Given the description of an element on the screen output the (x, y) to click on. 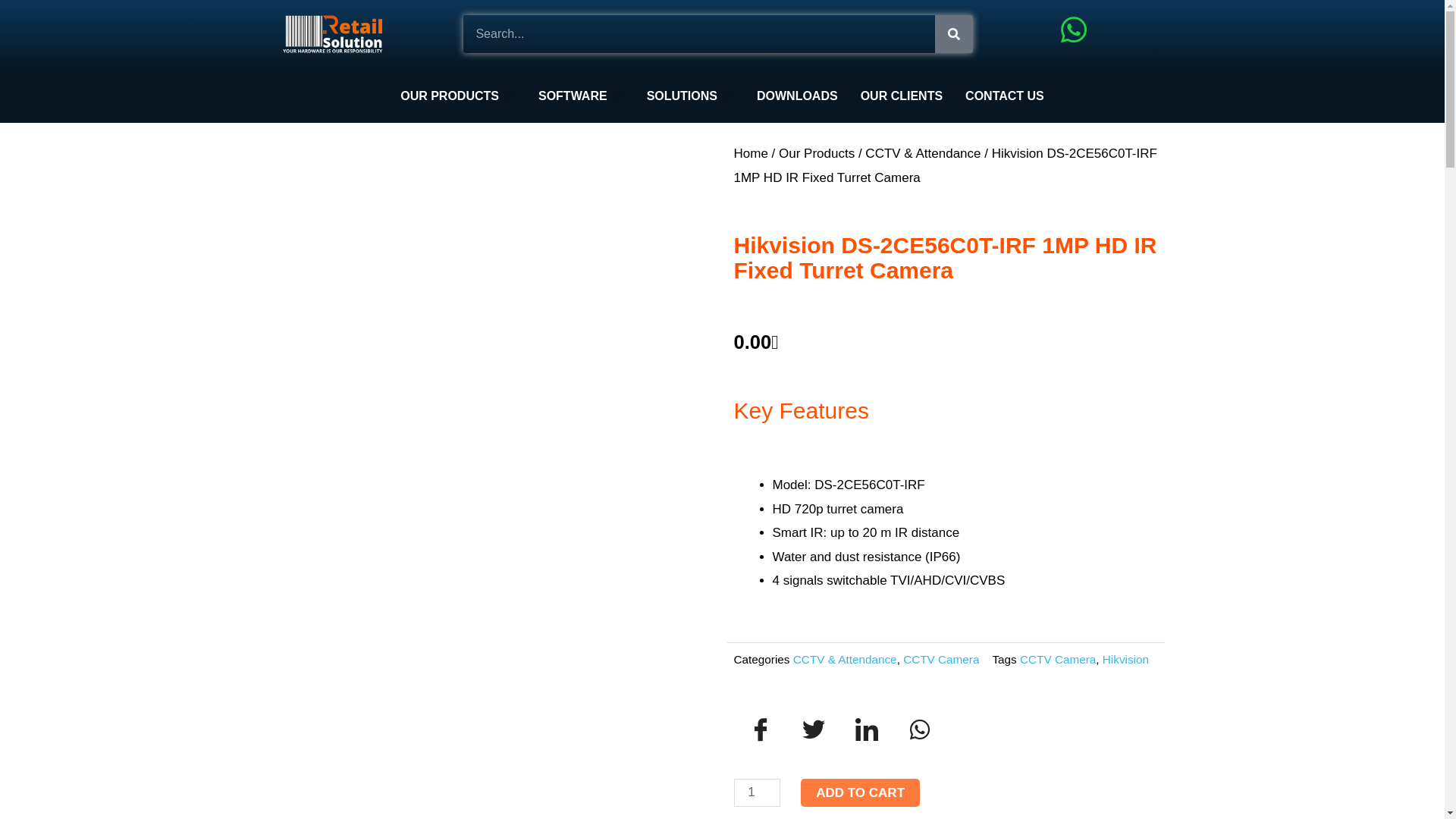
CCTV Camera Element type: text (941, 658)
CCTV Camera Element type: text (1057, 658)
OUR CLIENTS Element type: text (901, 95)
SOFTWARE Element type: text (581, 95)
CCTV & Attendance Element type: text (922, 153)
OUR PRODUCTS Element type: text (458, 95)
ADD TO CART Element type: text (859, 792)
CONTACT US Element type: text (1004, 95)
Our Products Element type: text (816, 153)
CCTV & Attendance Element type: text (845, 658)
DOWNLOADS Element type: text (797, 95)
Home Element type: text (751, 153)
SOLUTIONS Element type: text (690, 95)
Hikvision Element type: text (1125, 658)
